Given the description of an element on the screen output the (x, y) to click on. 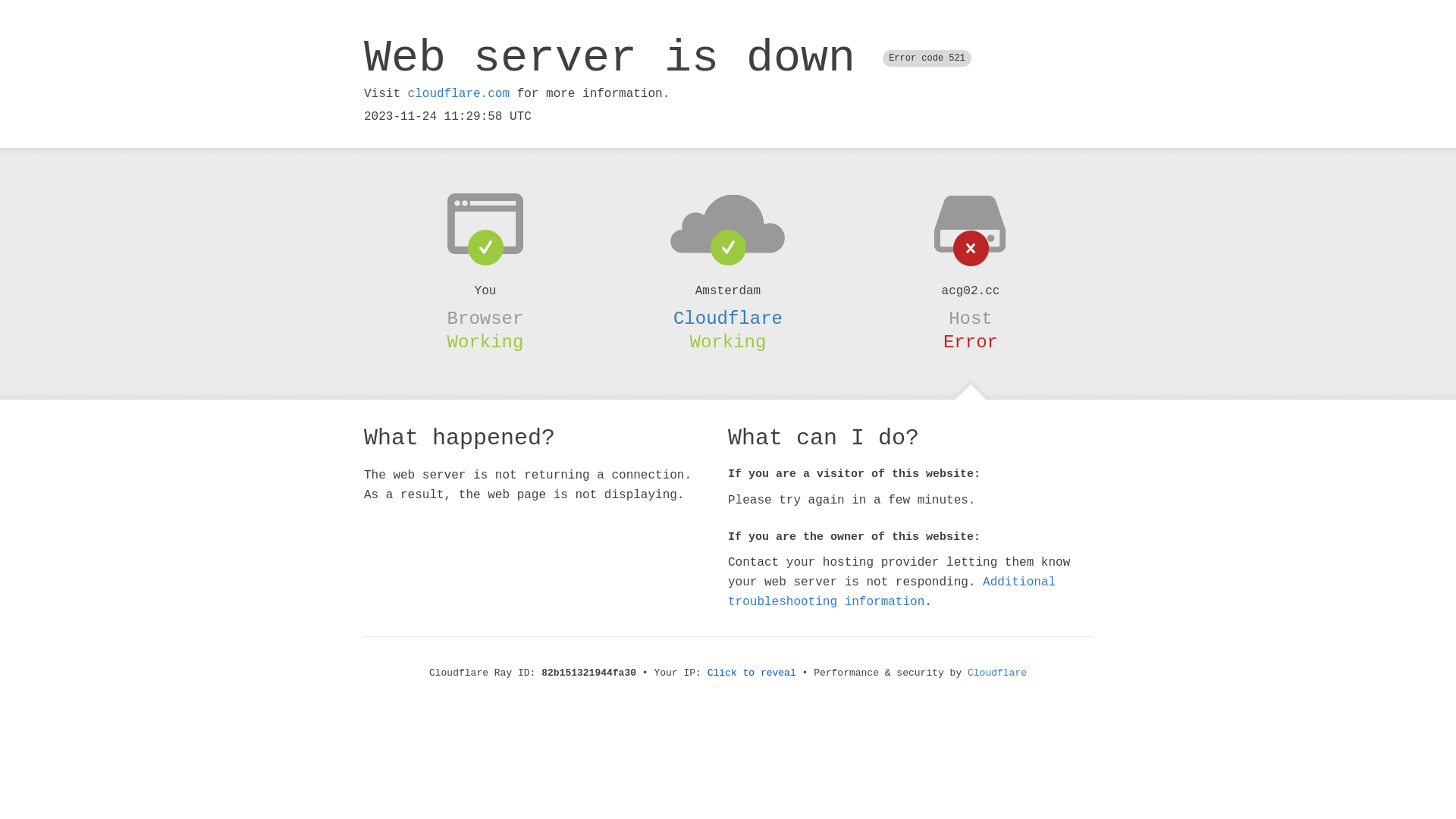
Click to reveal Element type: text (751, 672)
Cloudflare Element type: text (996, 672)
Additional troubleshooting information Element type: text (891, 591)
cloudflare.com Element type: text (458, 93)
Cloudflare Element type: text (727, 318)
